Given the description of an element on the screen output the (x, y) to click on. 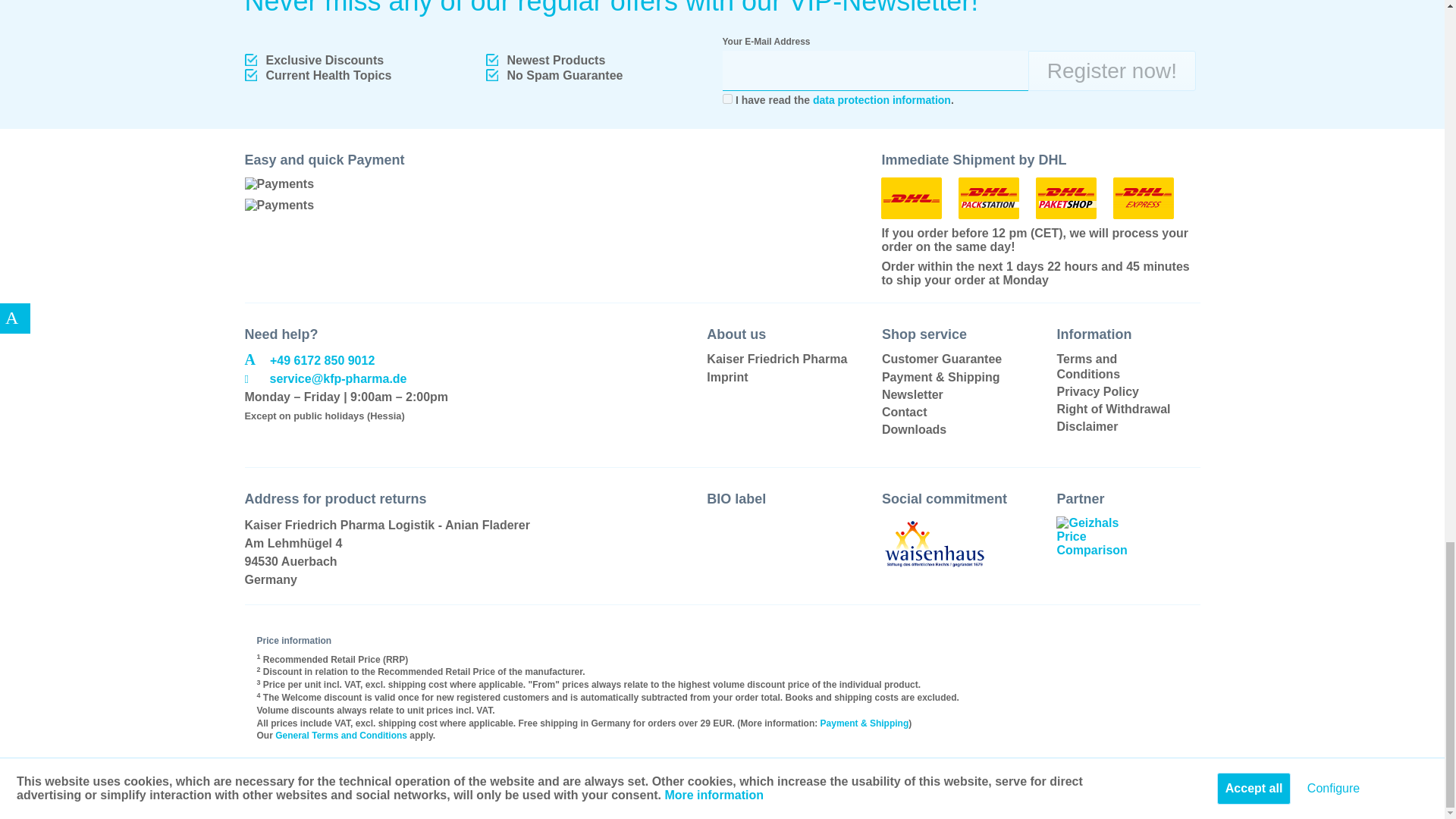
1 (727, 99)
